Given the description of an element on the screen output the (x, y) to click on. 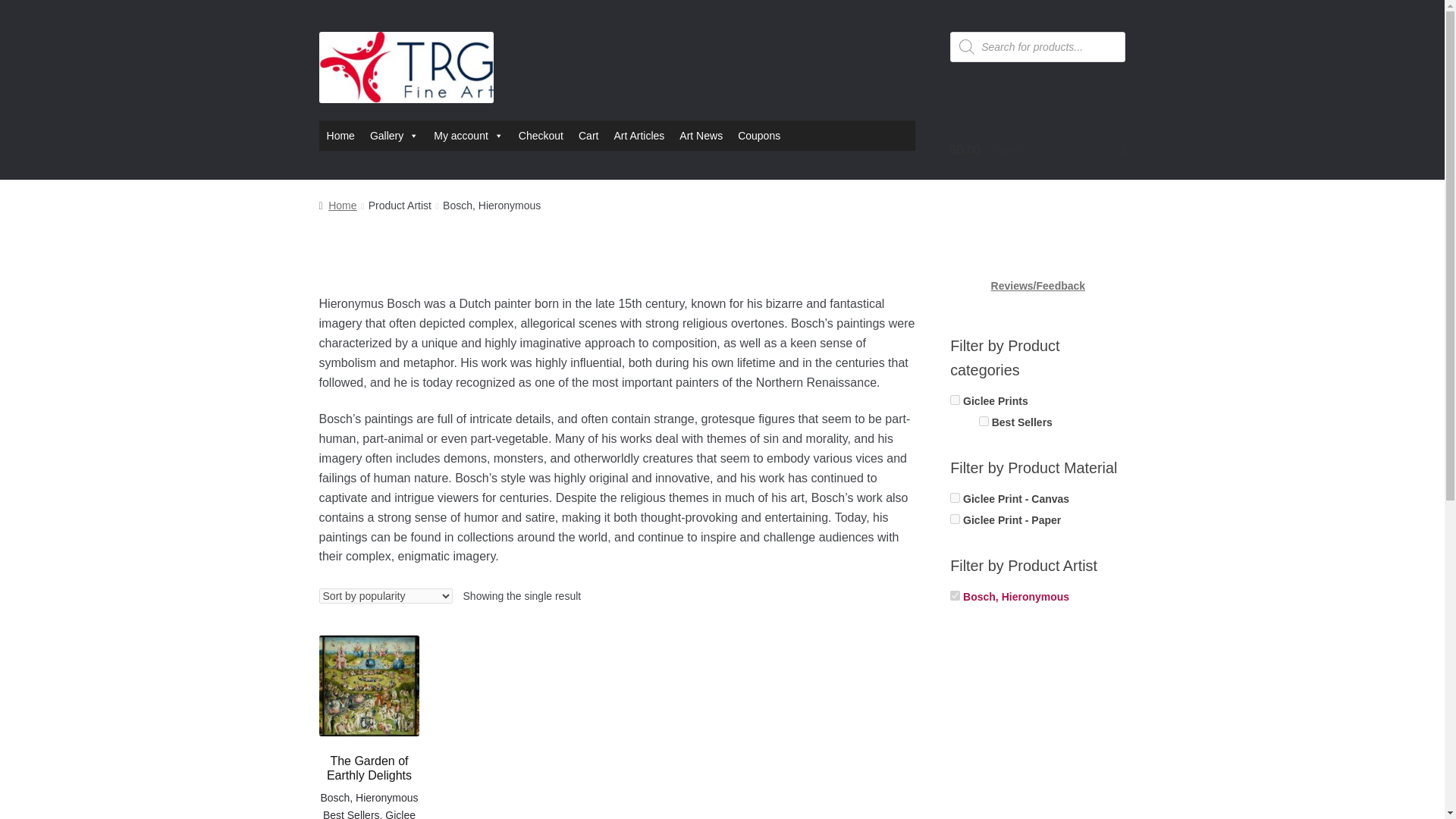
Home (340, 135)
bosch-hieronymous (954, 595)
Art Articles (638, 135)
Home (337, 205)
Gallery (394, 135)
Best Sellers (351, 814)
The Garden of Earthly Delights (369, 708)
Art News (700, 135)
Cart (587, 135)
giclee-print-canvas (954, 497)
best-sellers (983, 420)
Coupons (758, 135)
giclee-print-paper (954, 519)
fine-art-print (954, 399)
